Given the description of an element on the screen output the (x, y) to click on. 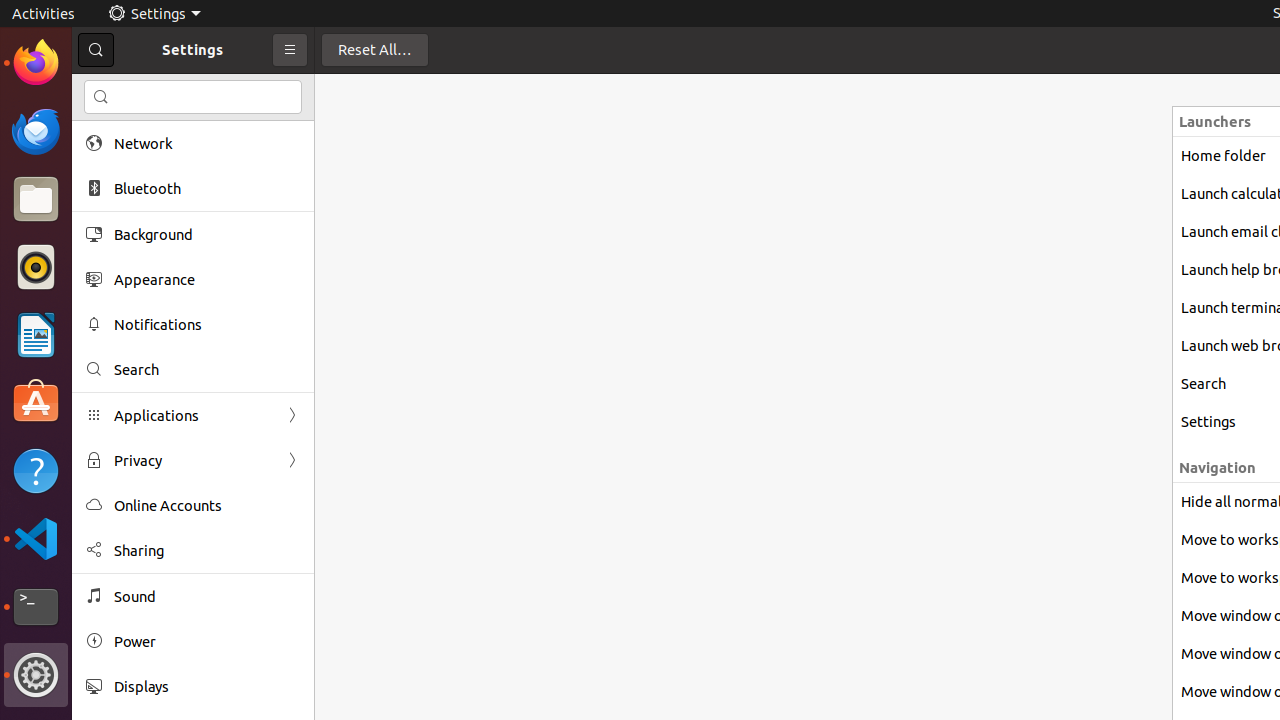
Terminal Element type: push-button (36, 607)
Firefox Web Browser Element type: push-button (36, 63)
Appearance Element type: label (207, 279)
Search Element type: text (193, 97)
Activities Element type: label (43, 13)
